Given the description of an element on the screen output the (x, y) to click on. 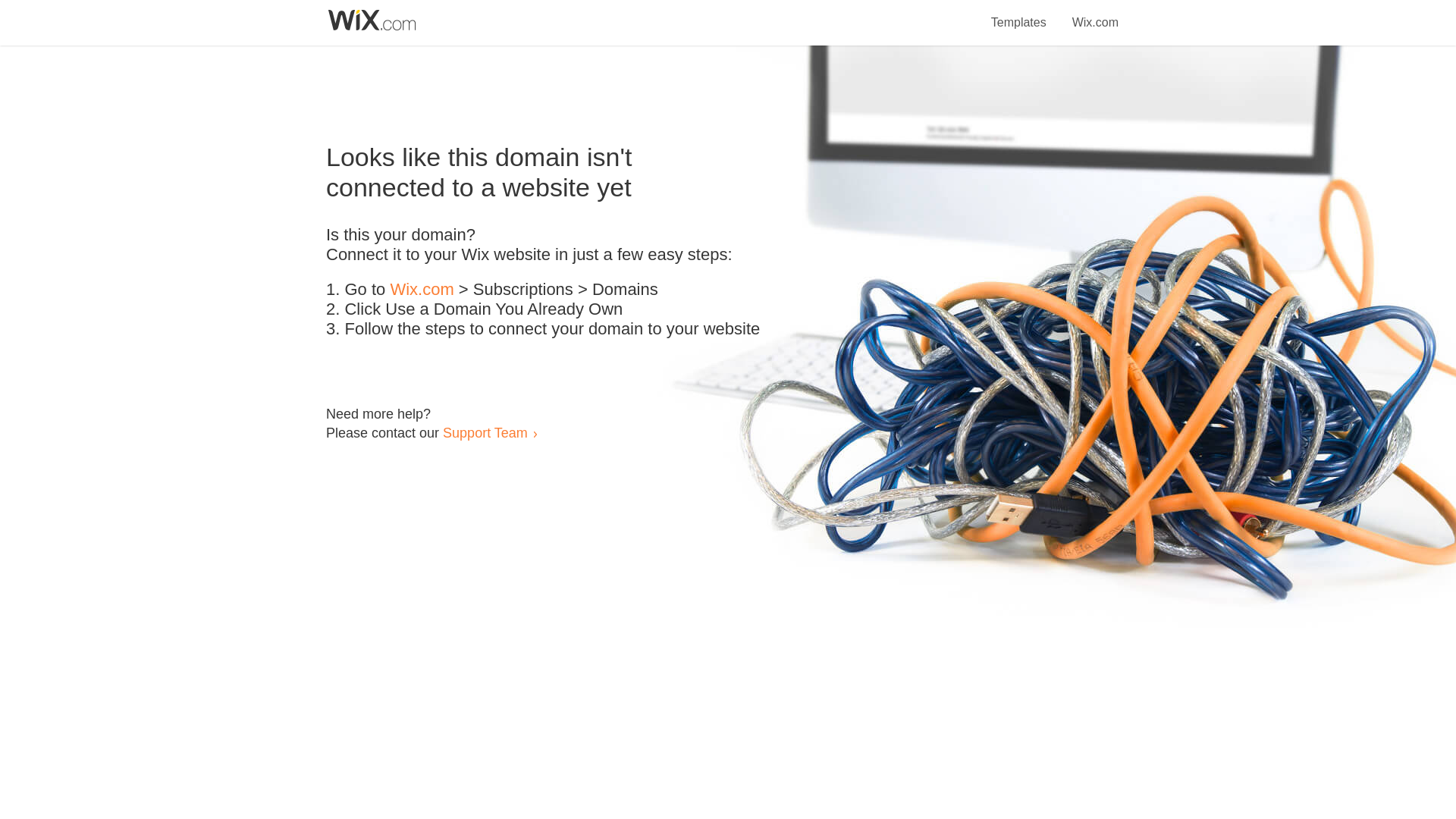
Support Team (484, 432)
Templates (1018, 14)
Wix.com (421, 289)
Wix.com (1095, 14)
